Given the description of an element on the screen output the (x, y) to click on. 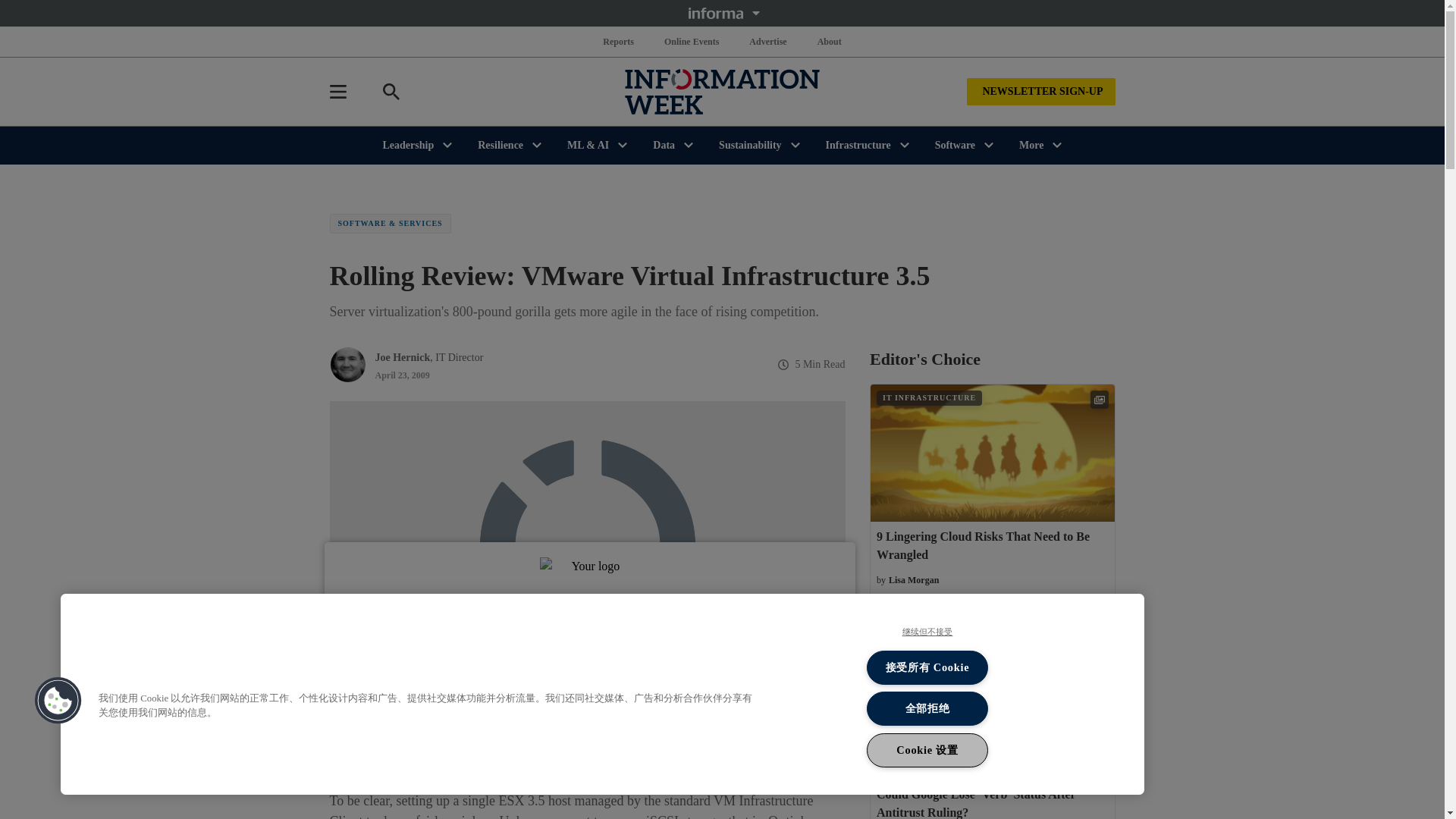
Cookies Button (57, 700)
Online Events (691, 41)
Advertise (767, 41)
InformationWeek (722, 91)
About (828, 41)
Reports (618, 41)
Picture of Joe Hernick (347, 364)
NEWSLETTER SIGN-UP (1040, 90)
